Given the description of an element on the screen output the (x, y) to click on. 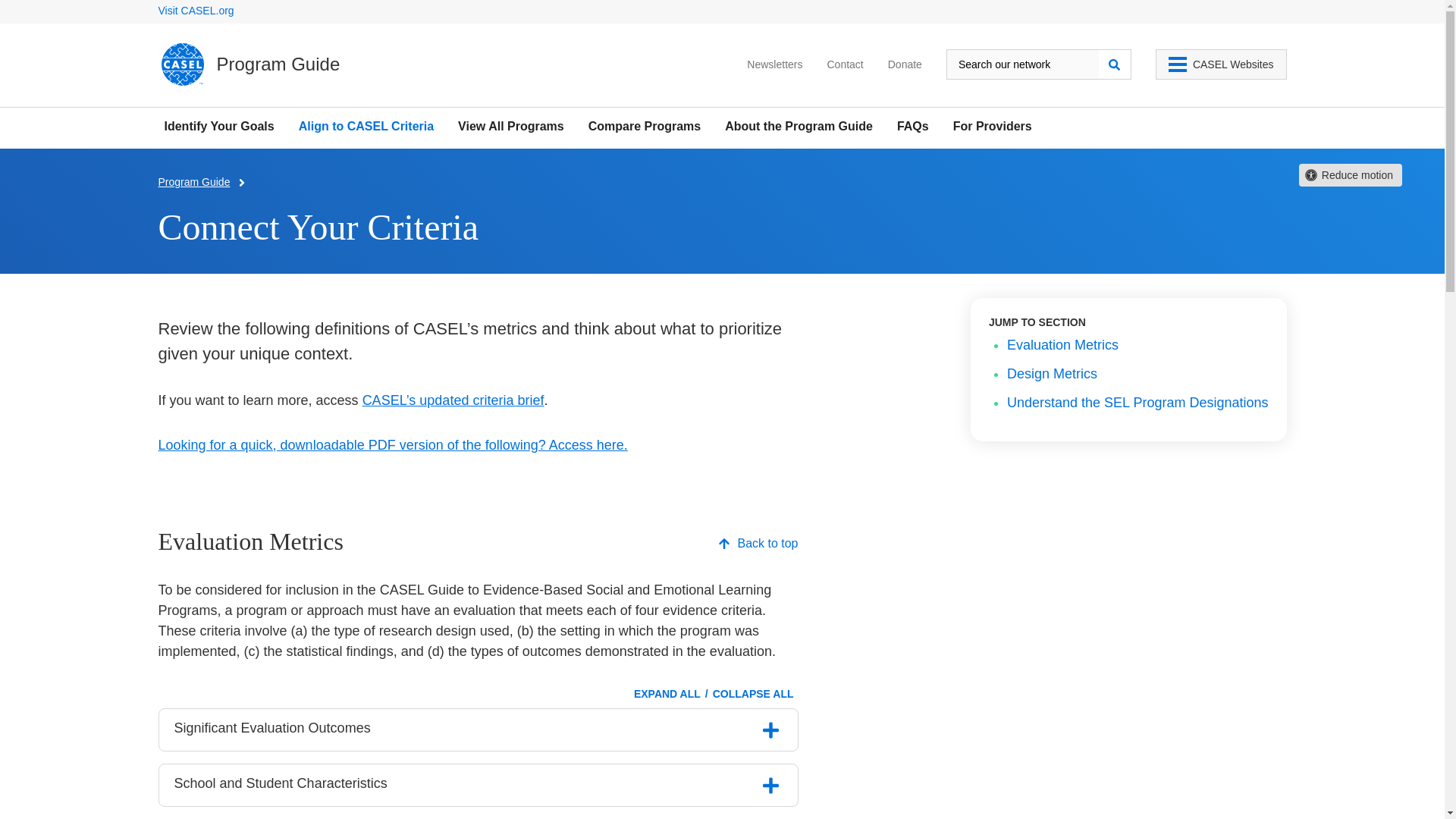
Visit CASEL.org (194, 10)
FAQs (912, 125)
on (771, 730)
Identify Your Goals (218, 125)
CASEL Websites (1221, 64)
CASEL Program Guide (248, 64)
COLLAPSE ALL (752, 693)
Align to CASEL Criteria (365, 125)
About the Program Guide (798, 125)
